Given the description of an element on the screen output the (x, y) to click on. 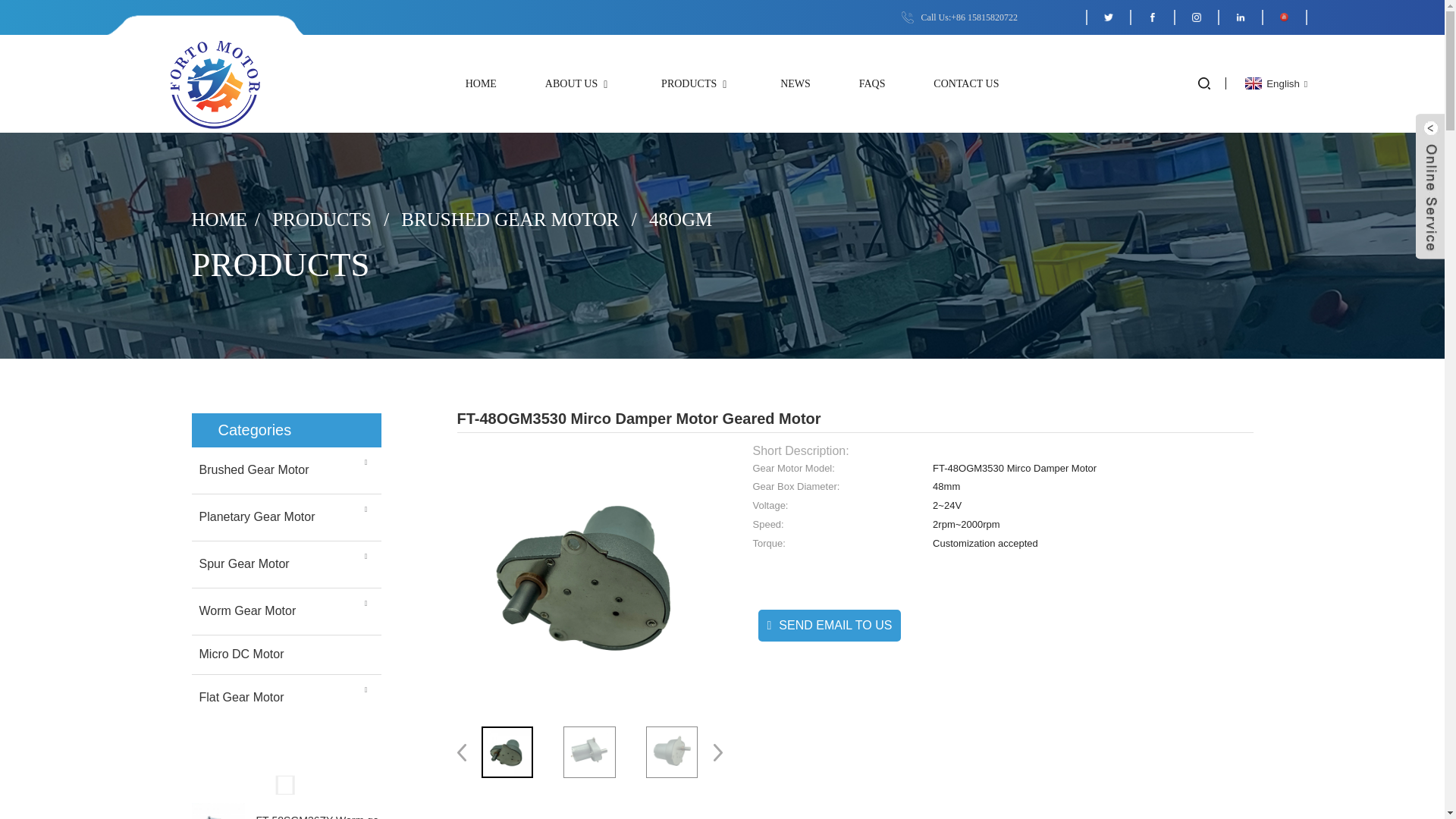
HOME (480, 82)
ABOUT US (578, 82)
PRODUCTS (696, 82)
